Given the description of an element on the screen output the (x, y) to click on. 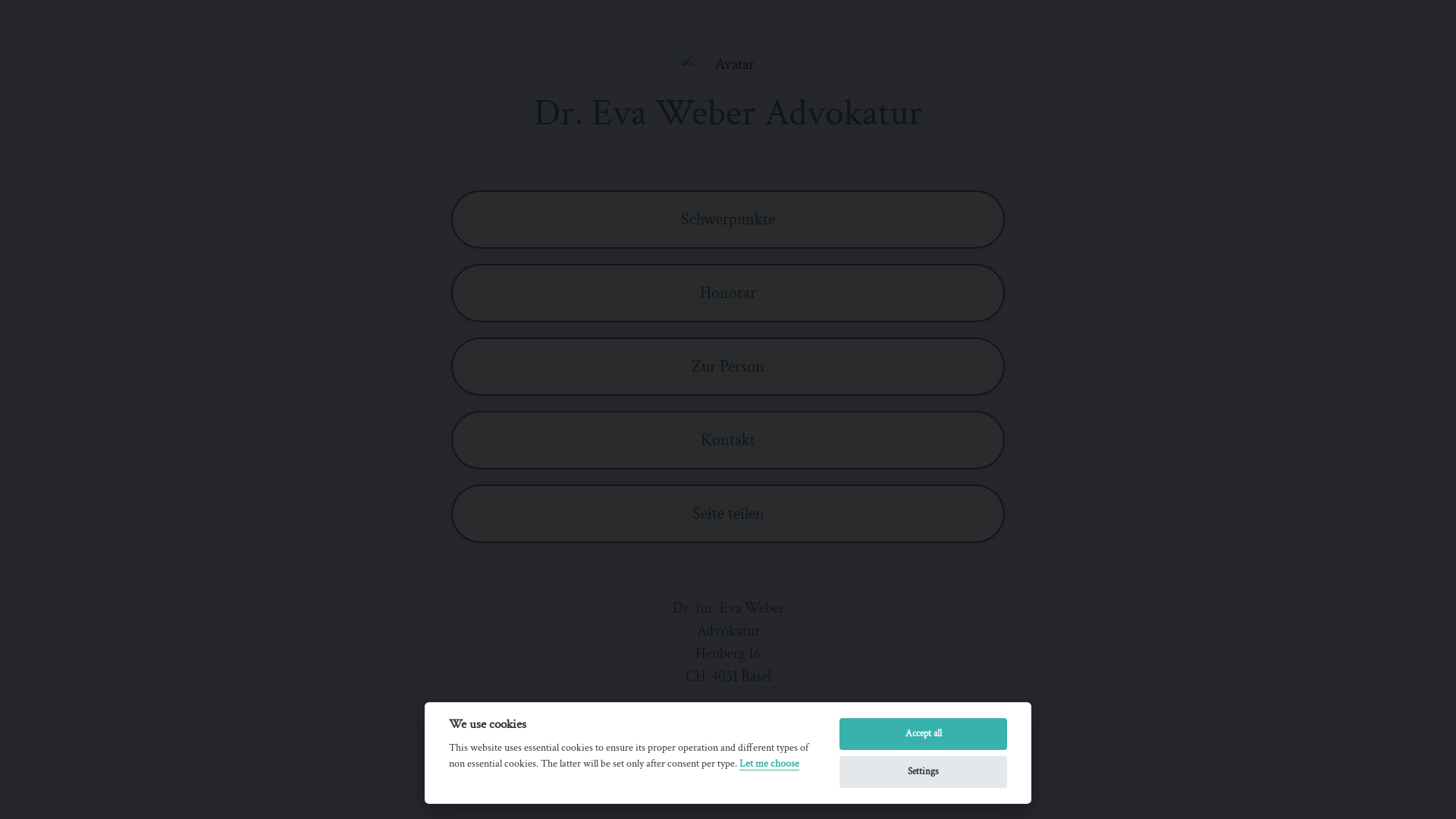
Kontakt Element type: text (727, 440)
Zur Person Element type: text (727, 366)
Accept all Element type: text (923, 733)
Honorar Element type: text (727, 292)
Seite teilen Element type: text (727, 513)
Settings Element type: text (923, 771)
Schwerpunkte Element type: text (727, 219)
Let me choose Element type: text (769, 763)
